Given the description of an element on the screen output the (x, y) to click on. 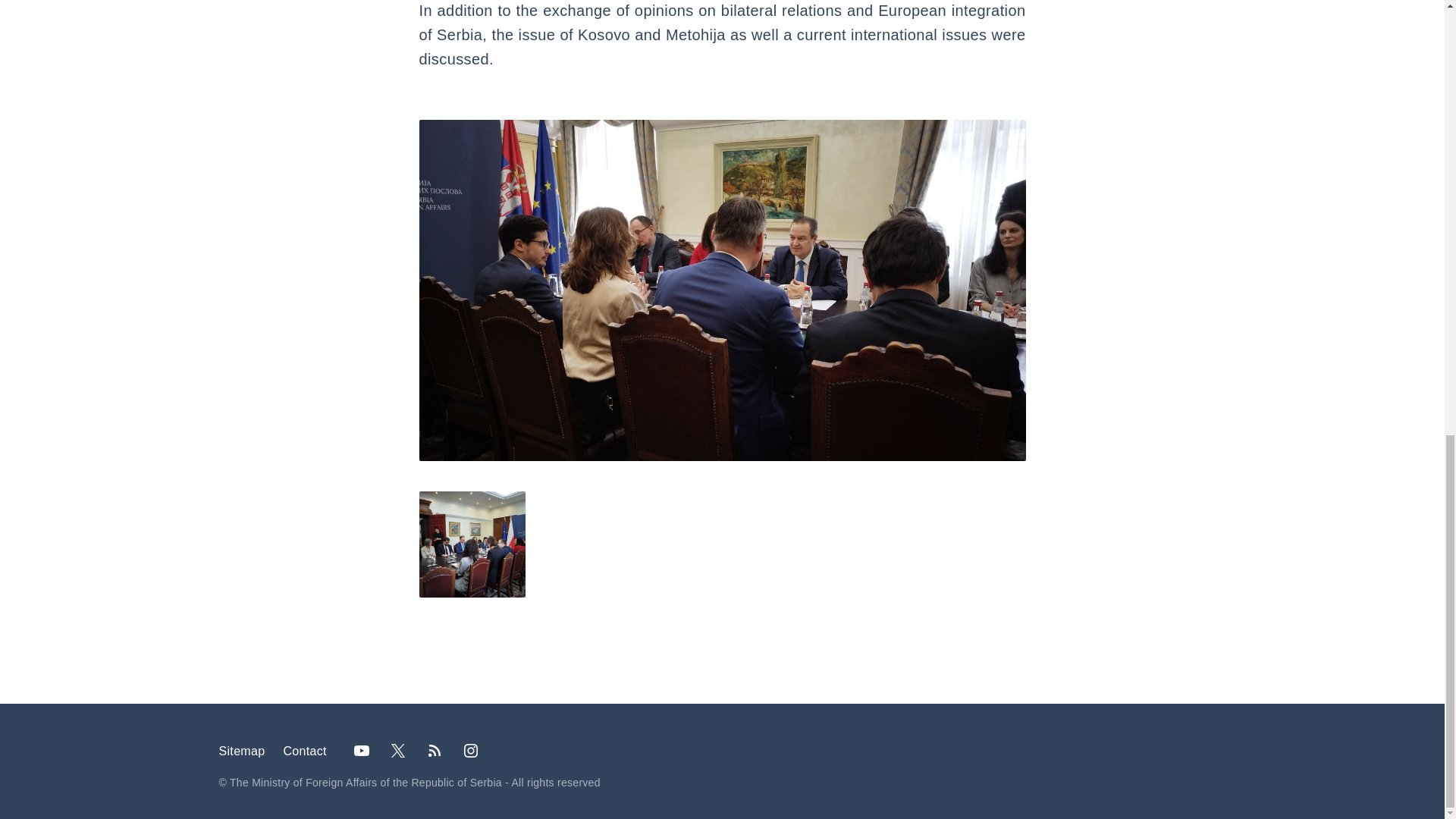
YouTube (361, 750)
RSS (434, 750)
Instagram (470, 750)
Twitter (397, 750)
